Given the description of an element on the screen output the (x, y) to click on. 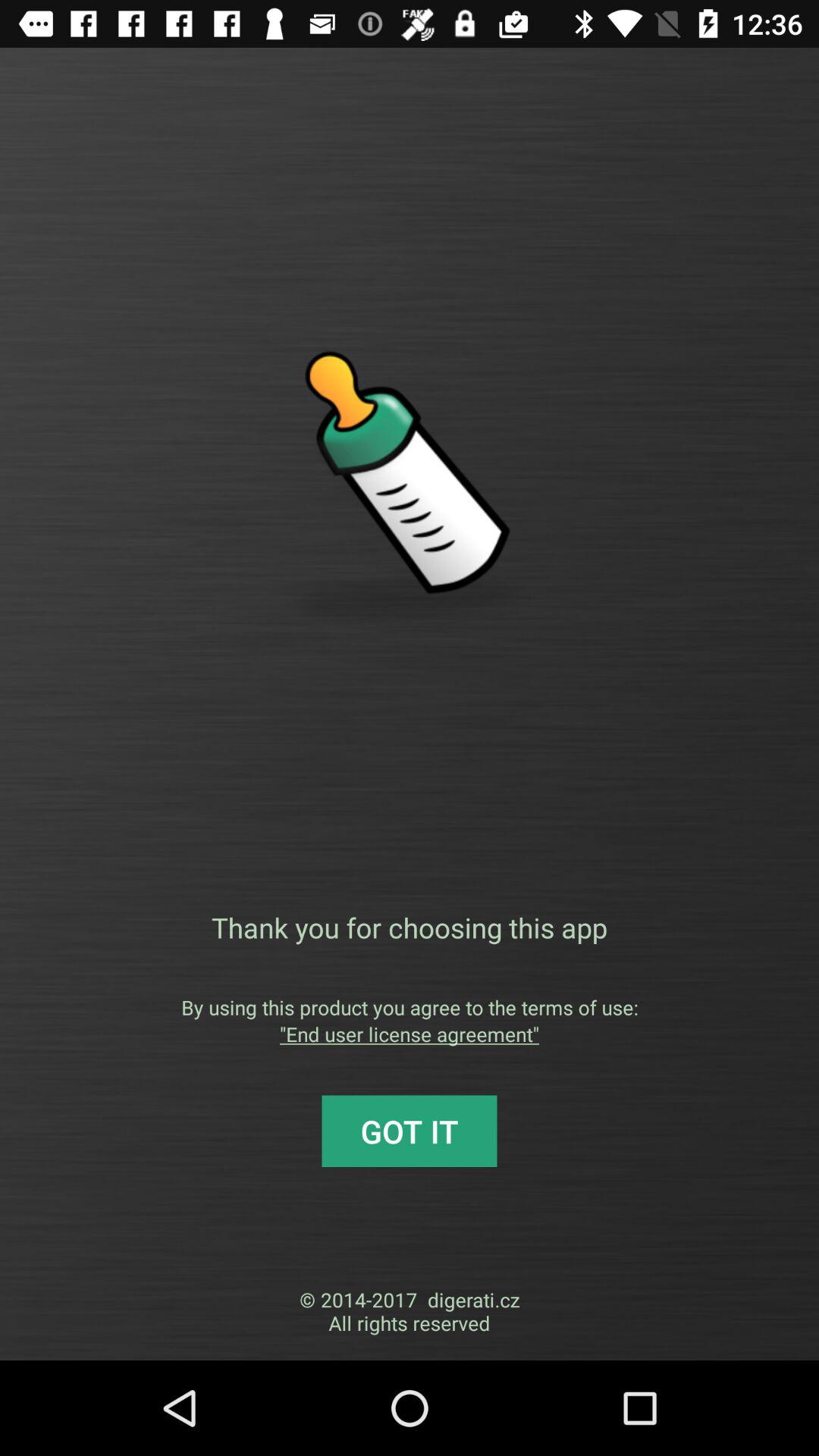
open icon above 2014 2017 digerati item (409, 1131)
